Given the description of an element on the screen output the (x, y) to click on. 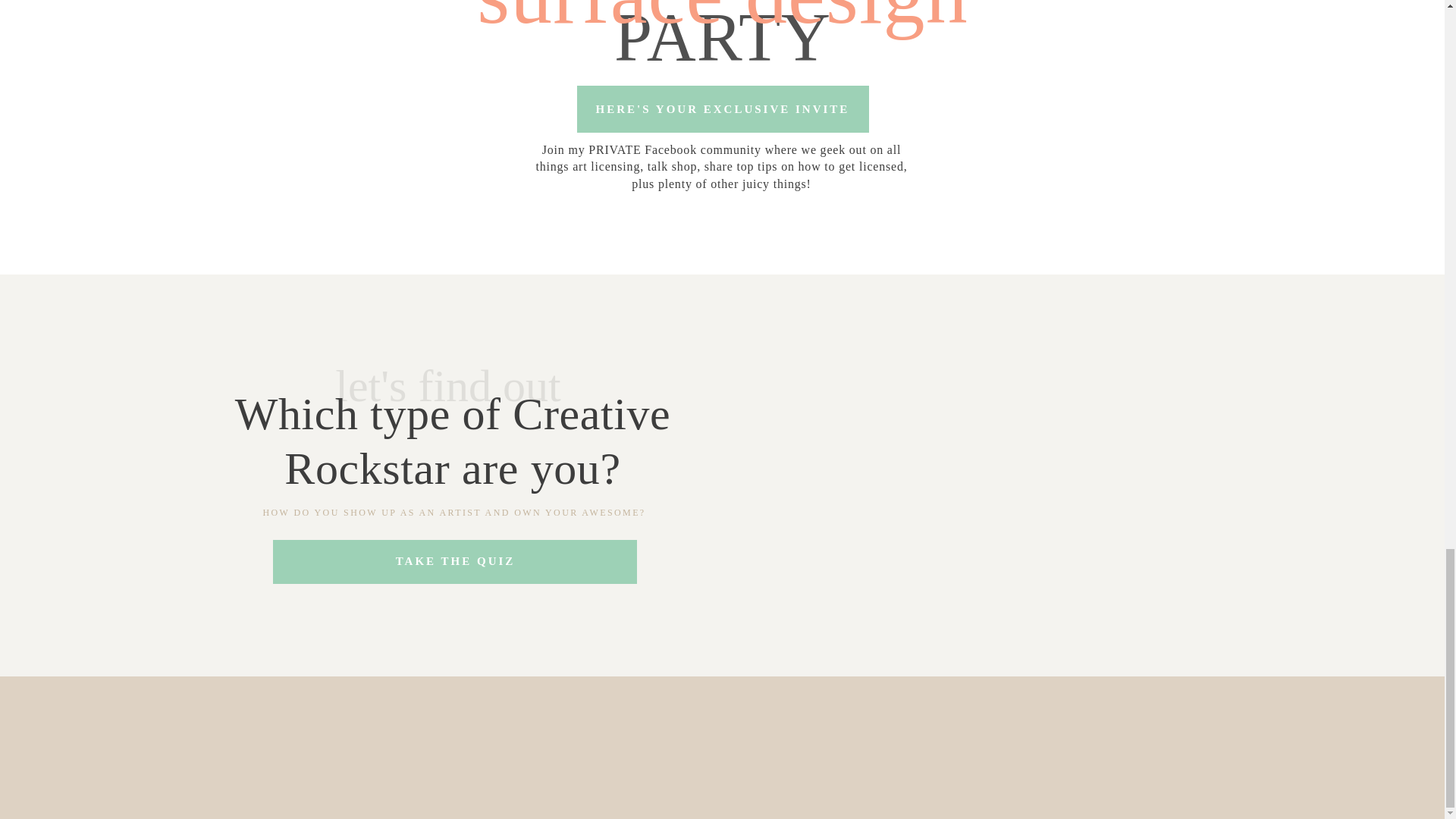
TAKE THE QUIZ (455, 560)
HERE'S YOUR EXCLUSIVE INVITE (721, 108)
